Given the description of an element on the screen output the (x, y) to click on. 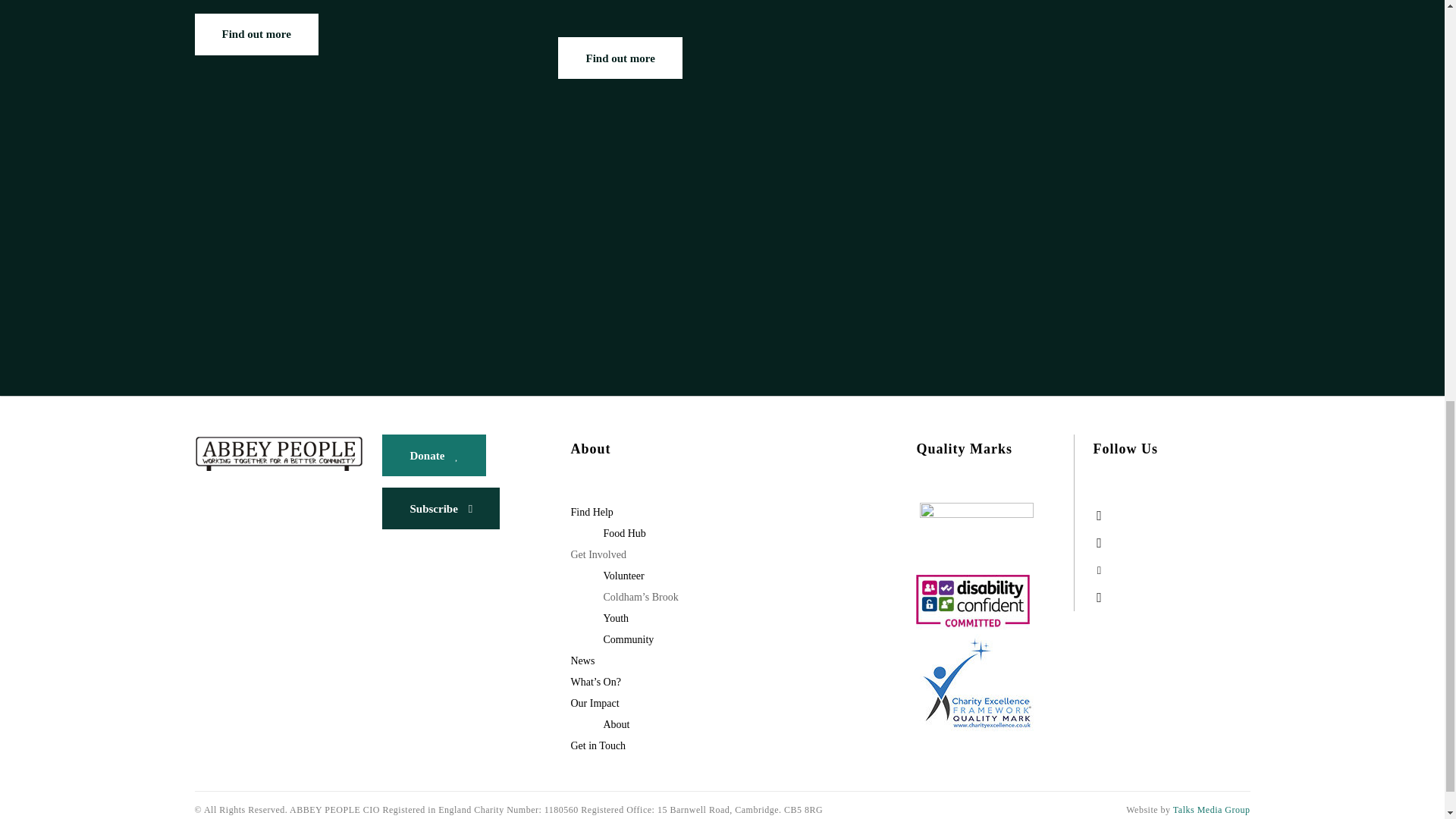
Find out more (255, 34)
Find out more (619, 57)
Donate (433, 454)
